Given the description of an element on the screen output the (x, y) to click on. 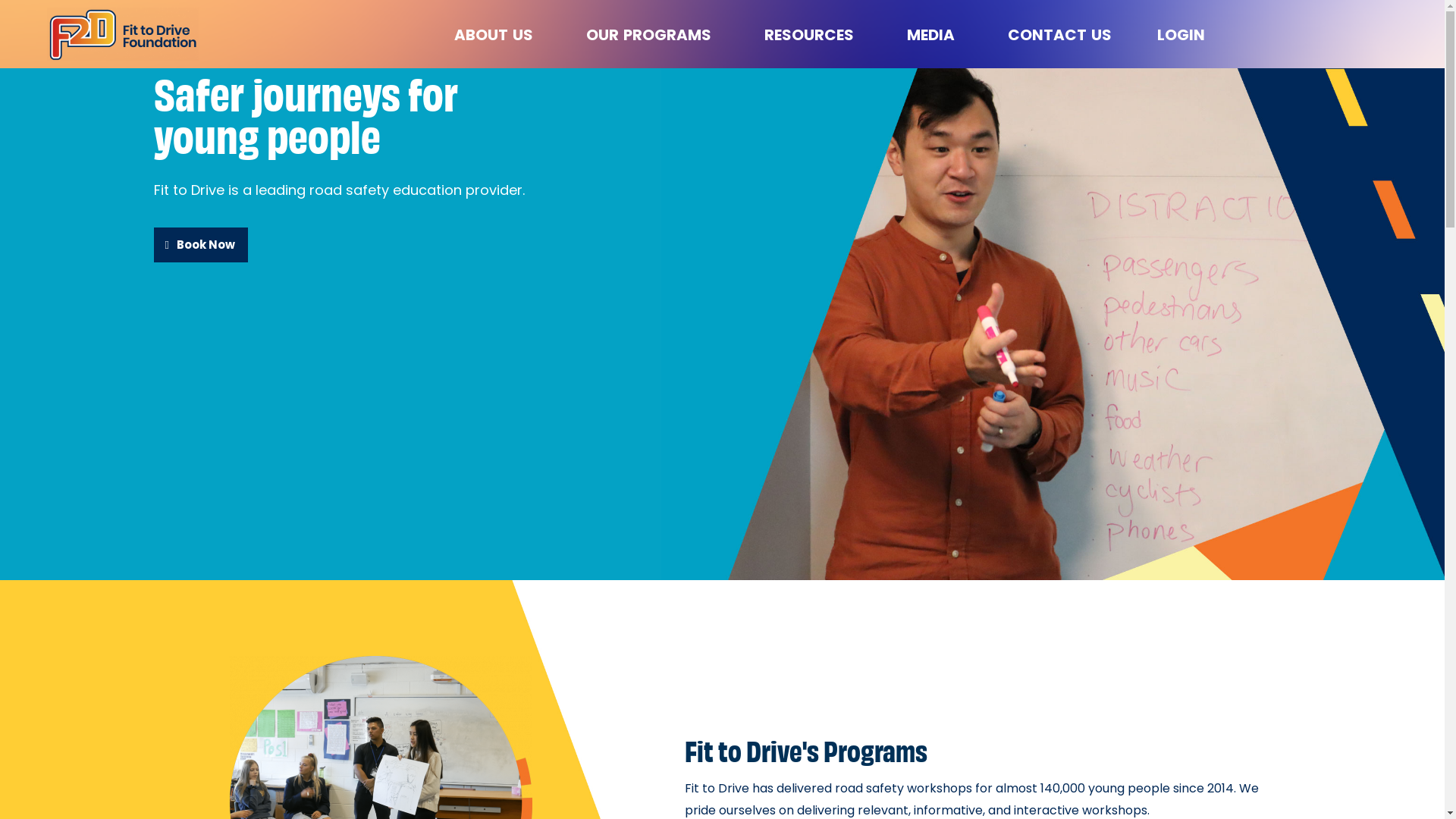
OUR PROGRAMS Element type: text (652, 34)
RESOURCES Element type: text (812, 34)
Book Now Element type: text (200, 244)
LOGIN Element type: text (1180, 34)
CONTACT US Element type: text (1059, 34)
MEDIA Element type: text (934, 34)
ABOUT US Element type: text (497, 34)
